Given the description of an element on the screen output the (x, y) to click on. 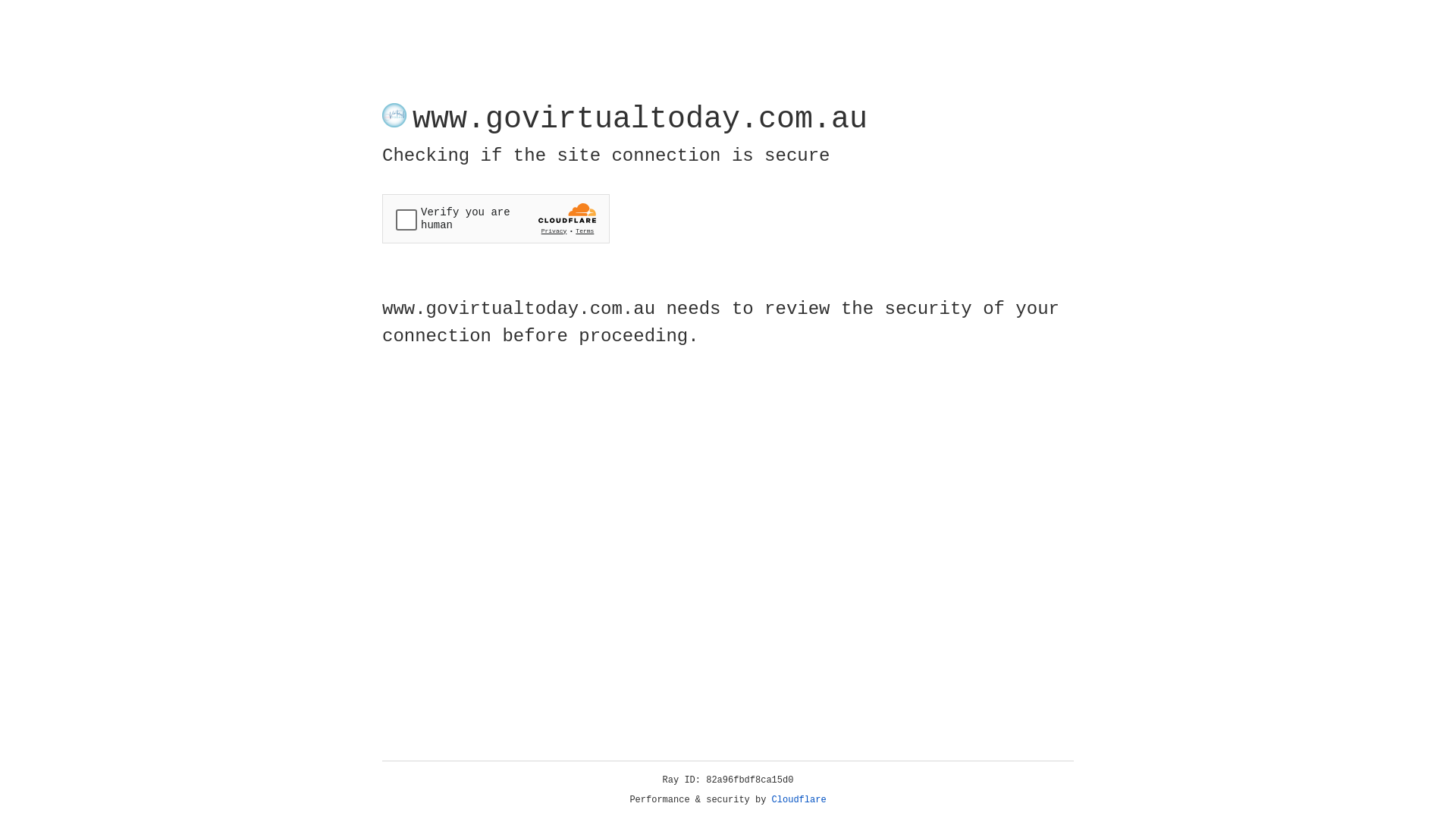
Cloudflare Element type: text (798, 799)
Widget containing a Cloudflare security challenge Element type: hover (495, 218)
